Given the description of an element on the screen output the (x, y) to click on. 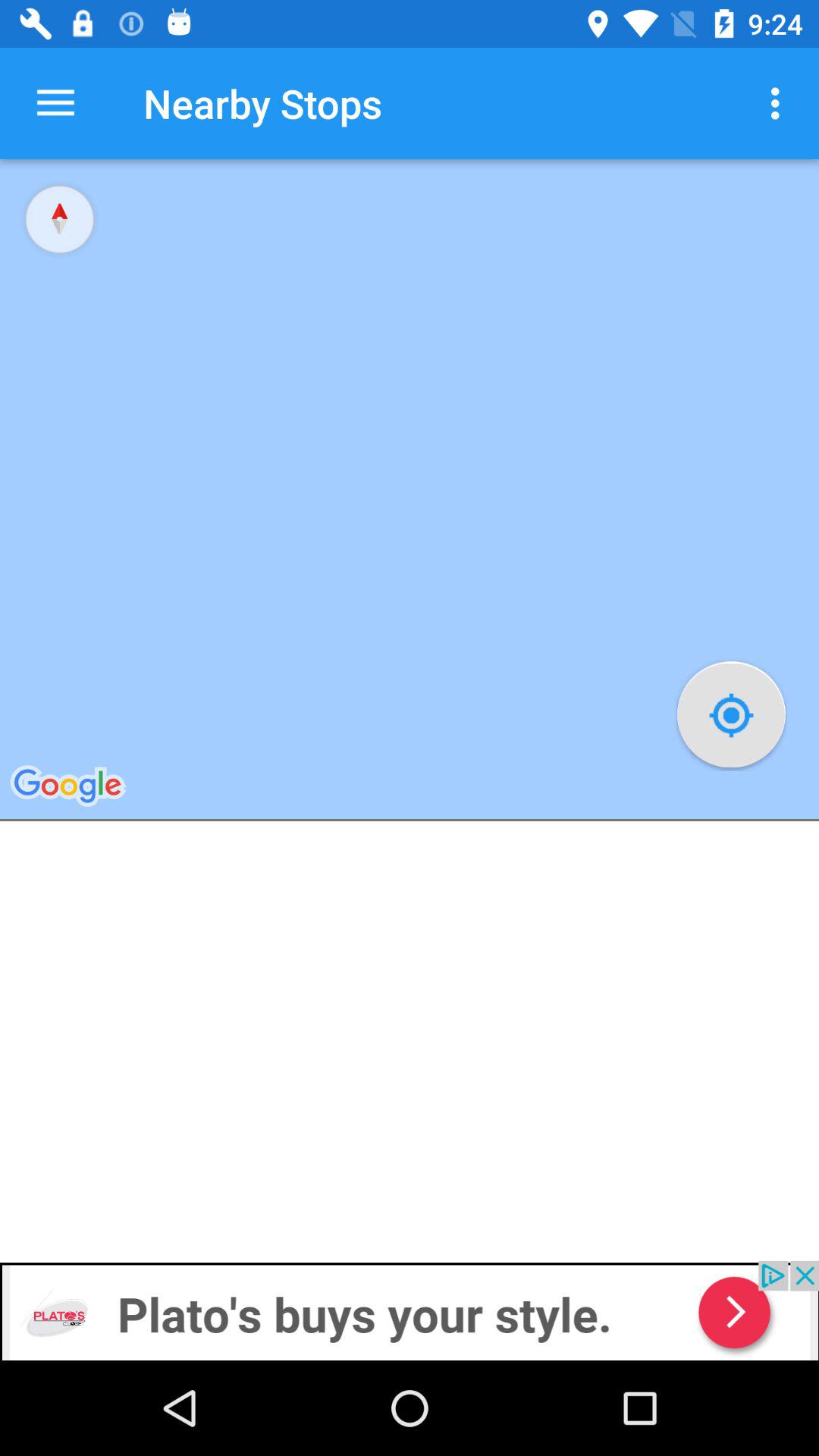
advertisement banner (409, 1310)
